Given the description of an element on the screen output the (x, y) to click on. 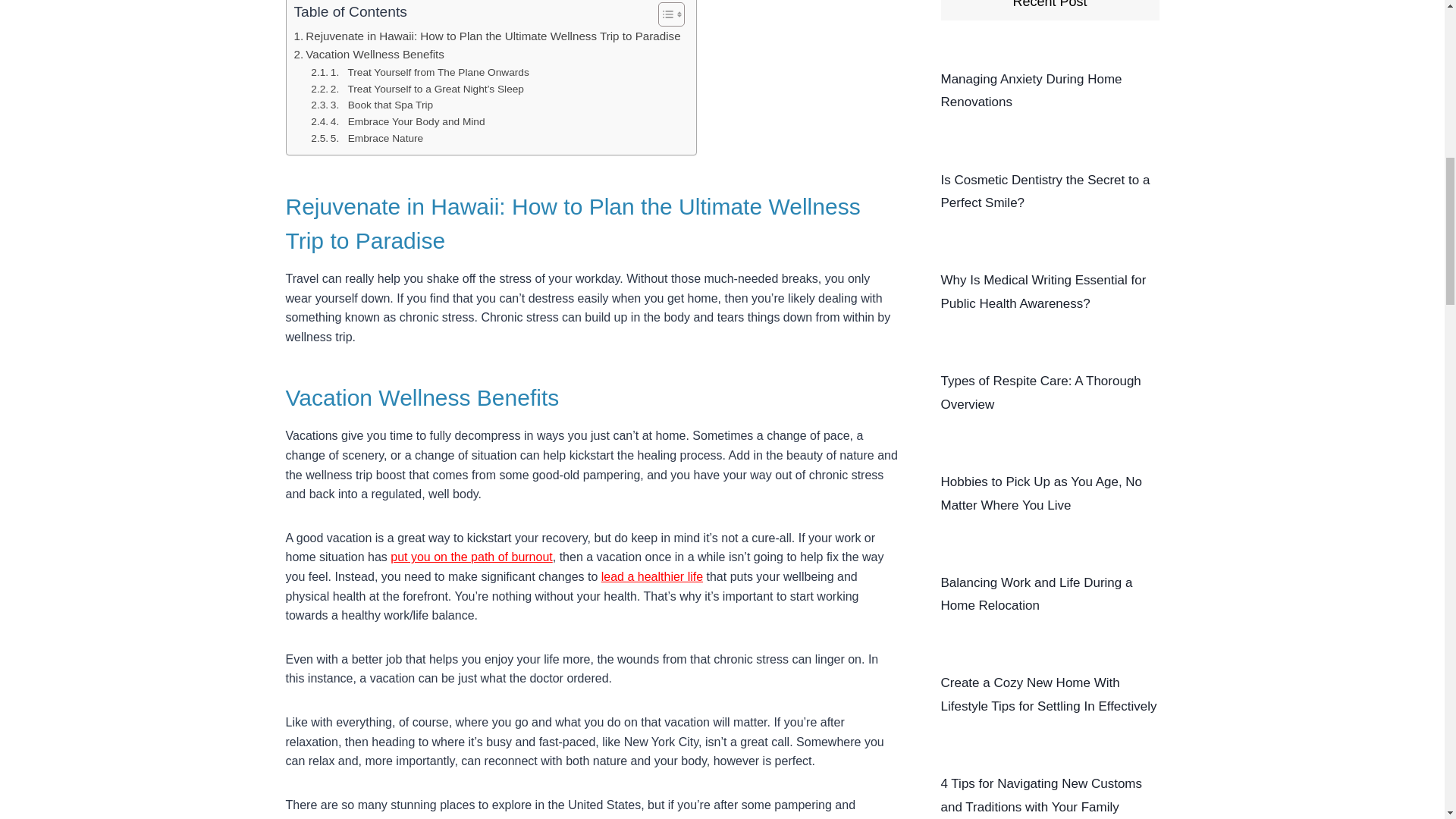
put you on the path of burnout (471, 556)
1.   Treat Yourself from The Plane Onwards (420, 72)
Vacation Wellness Benefits (369, 54)
3.   Book that Spa Trip (371, 105)
5.   Embrace Nature (367, 138)
Vacation Wellness Benefits (369, 54)
lead a healthier life (652, 576)
4.   Embrace Your Body and Mind (397, 121)
